Given the description of an element on the screen output the (x, y) to click on. 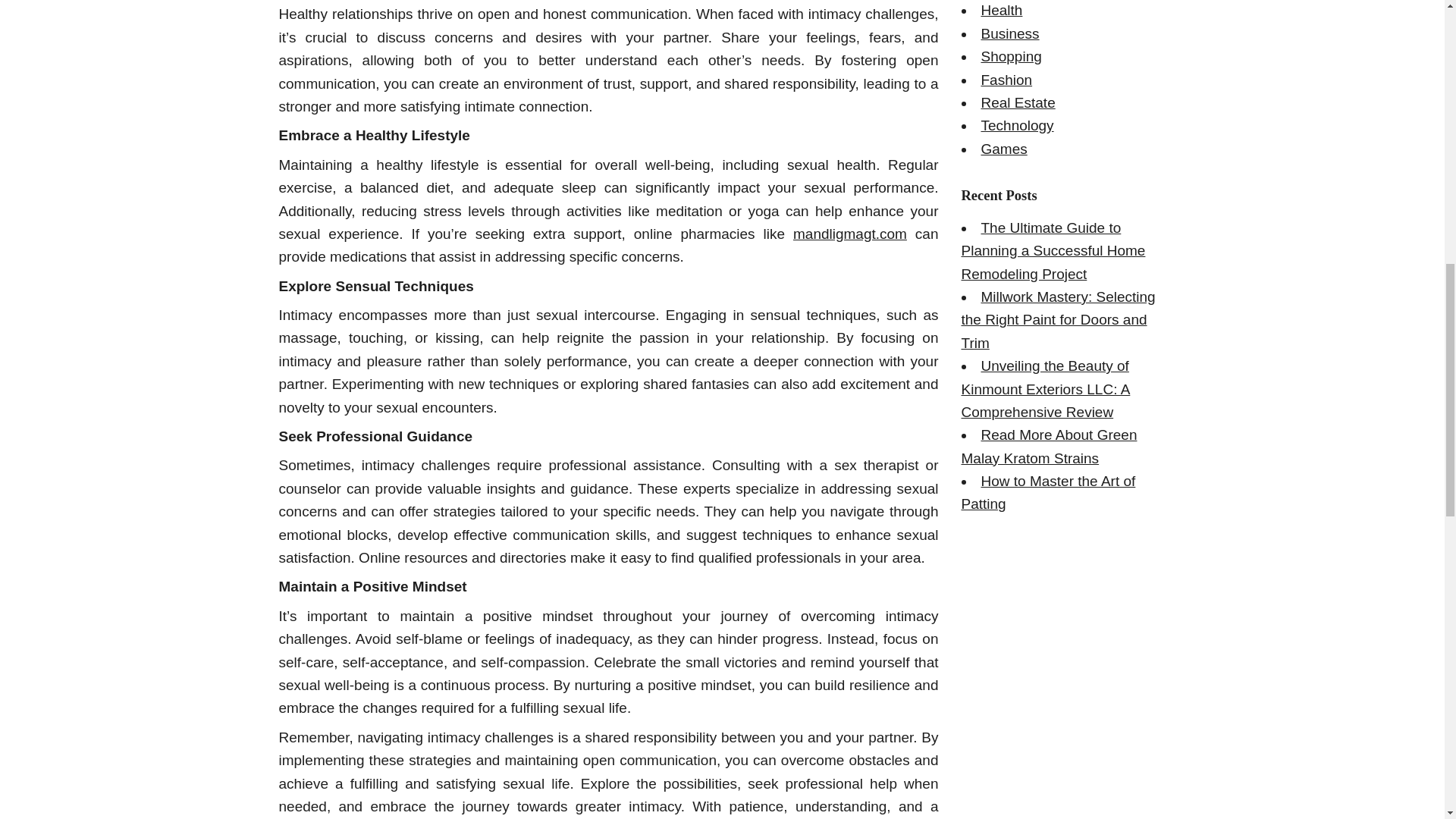
mandligmagt.com (850, 233)
